Given the description of an element on the screen output the (x, y) to click on. 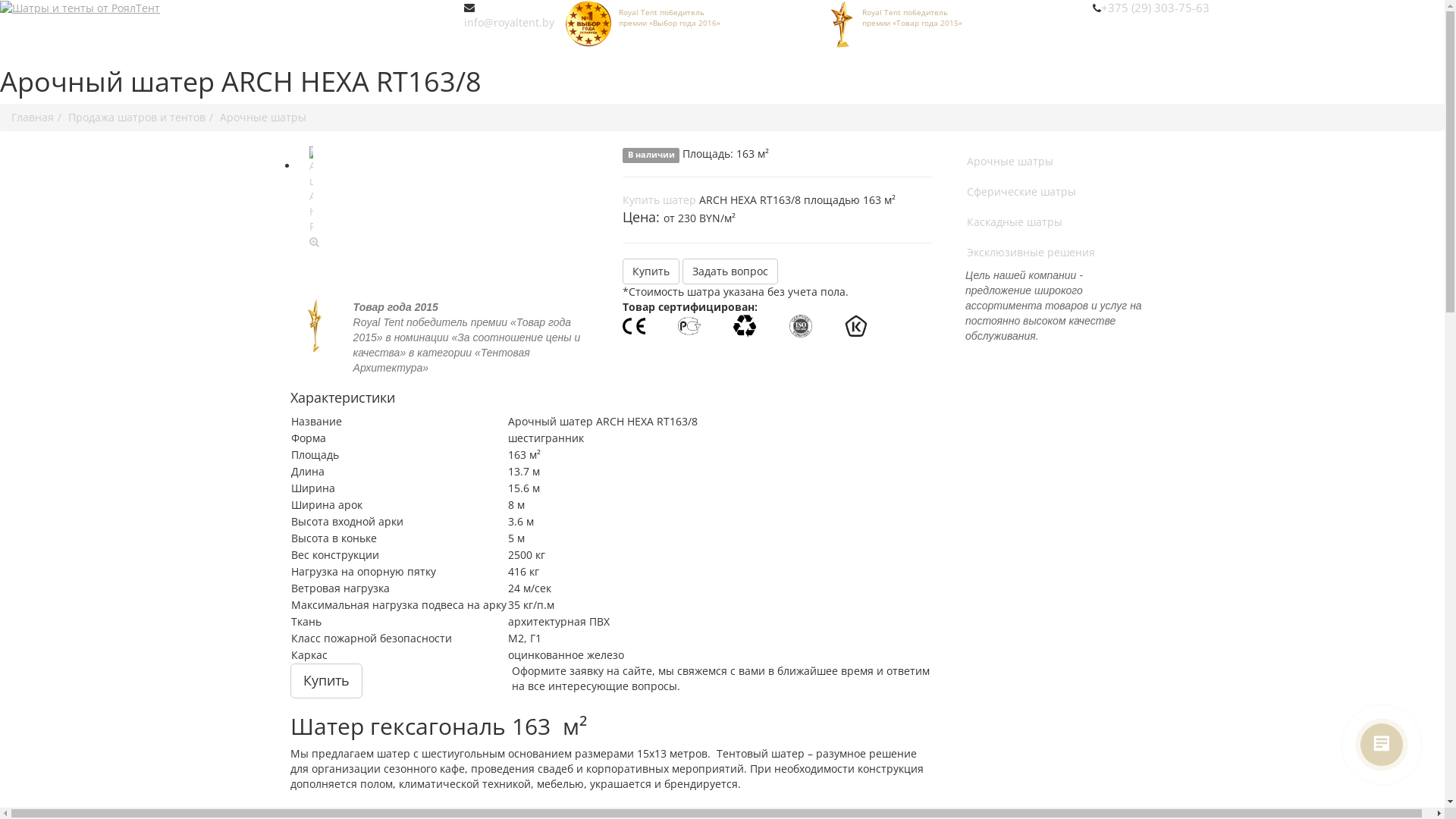
+375 (29) 303-75-63 Element type: text (1155, 7)
info@royaltent.by Element type: text (509, 22)
